Given the description of an element on the screen output the (x, y) to click on. 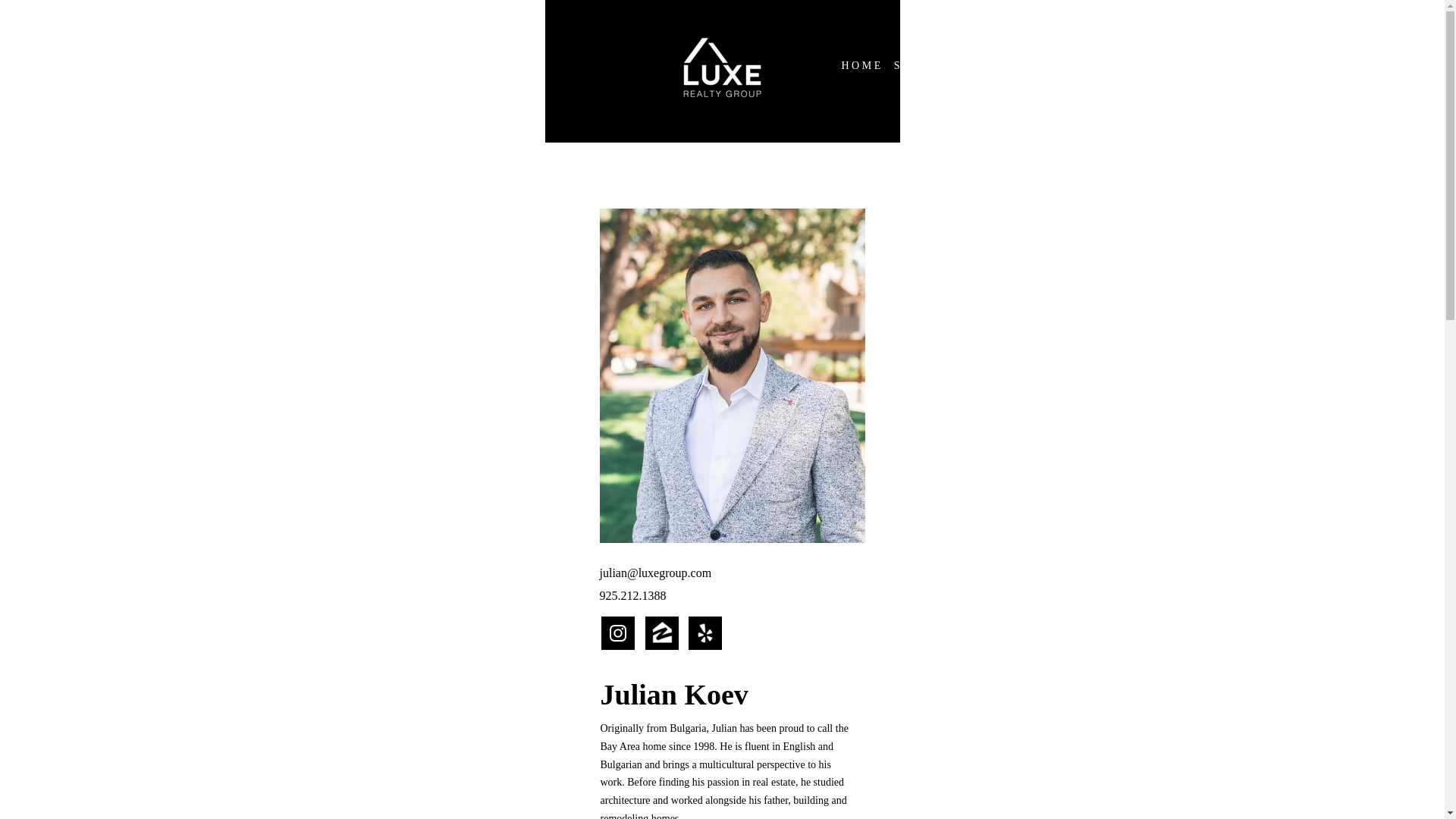
instagram-square-mono (616, 633)
yelp logo black (705, 633)
Luxe   Logo Final White copy (722, 68)
zillow logo black (661, 633)
S E R V I C E S (935, 66)
instagram-square-mono (616, 633)
H O M E (860, 66)
